Given the description of an element on the screen output the (x, y) to click on. 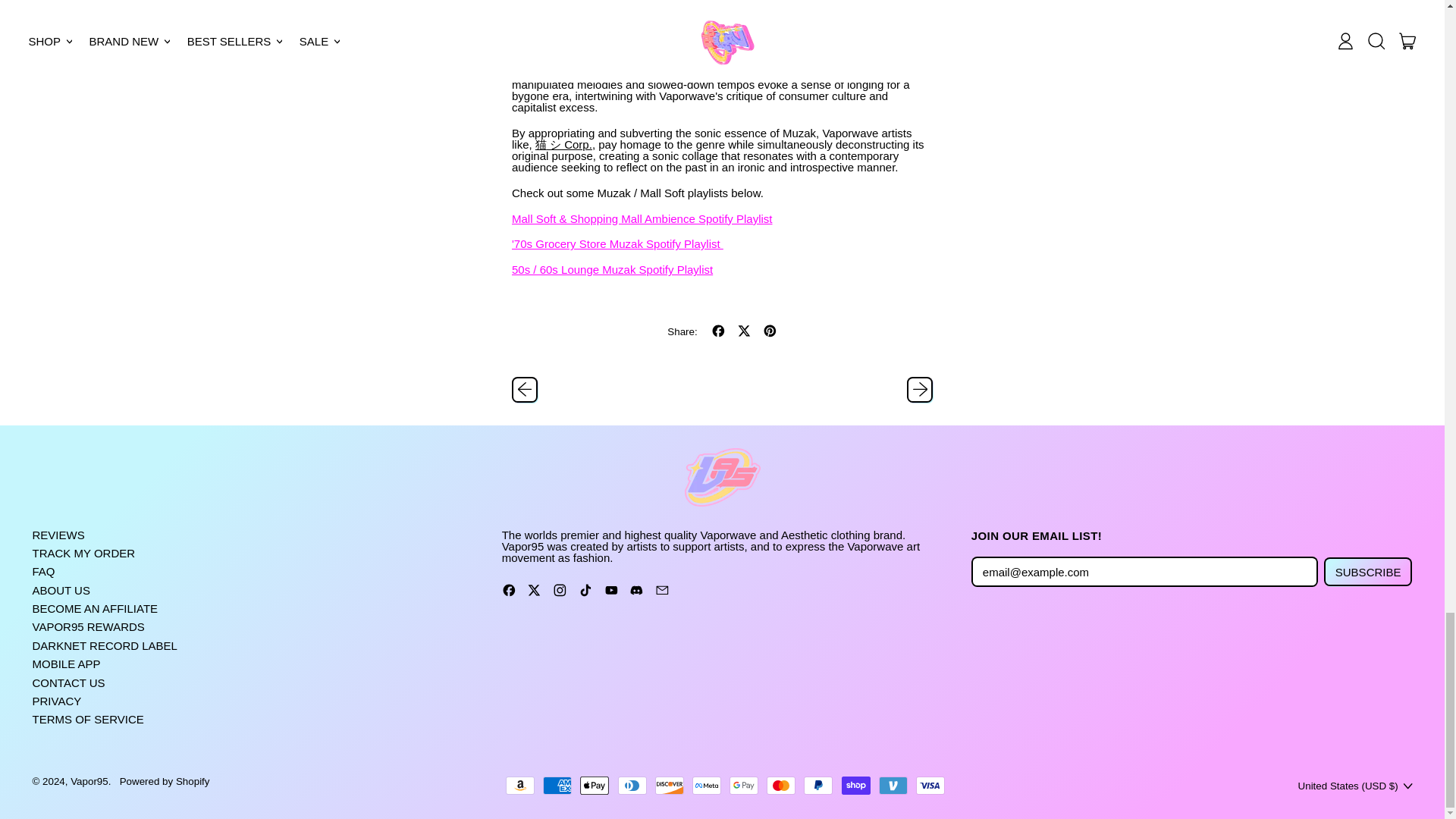
YouTube video player (722, 20)
